Given the description of an element on the screen output the (x, y) to click on. 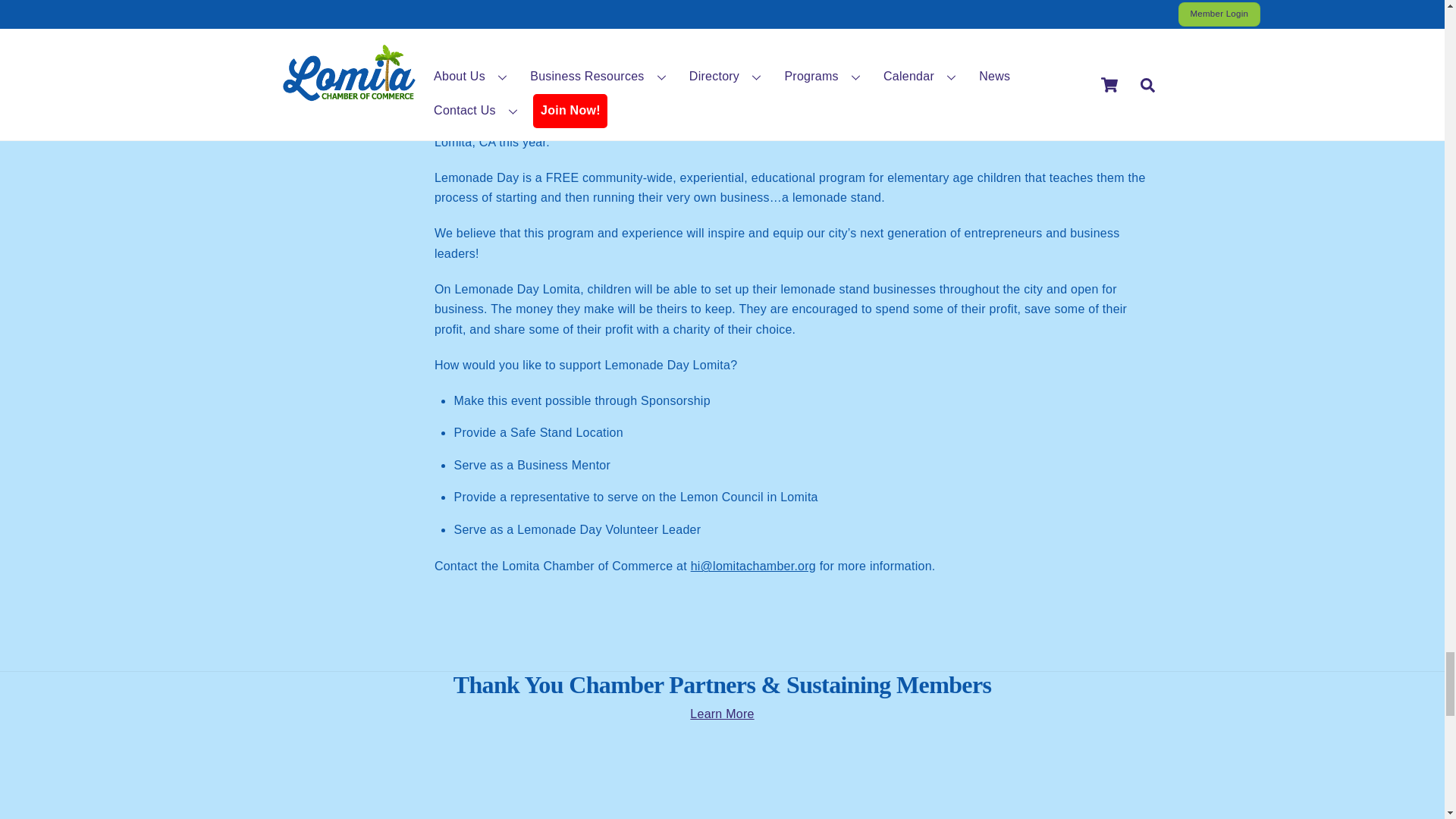
lemonade day lomita (345, 29)
